Given the description of an element on the screen output the (x, y) to click on. 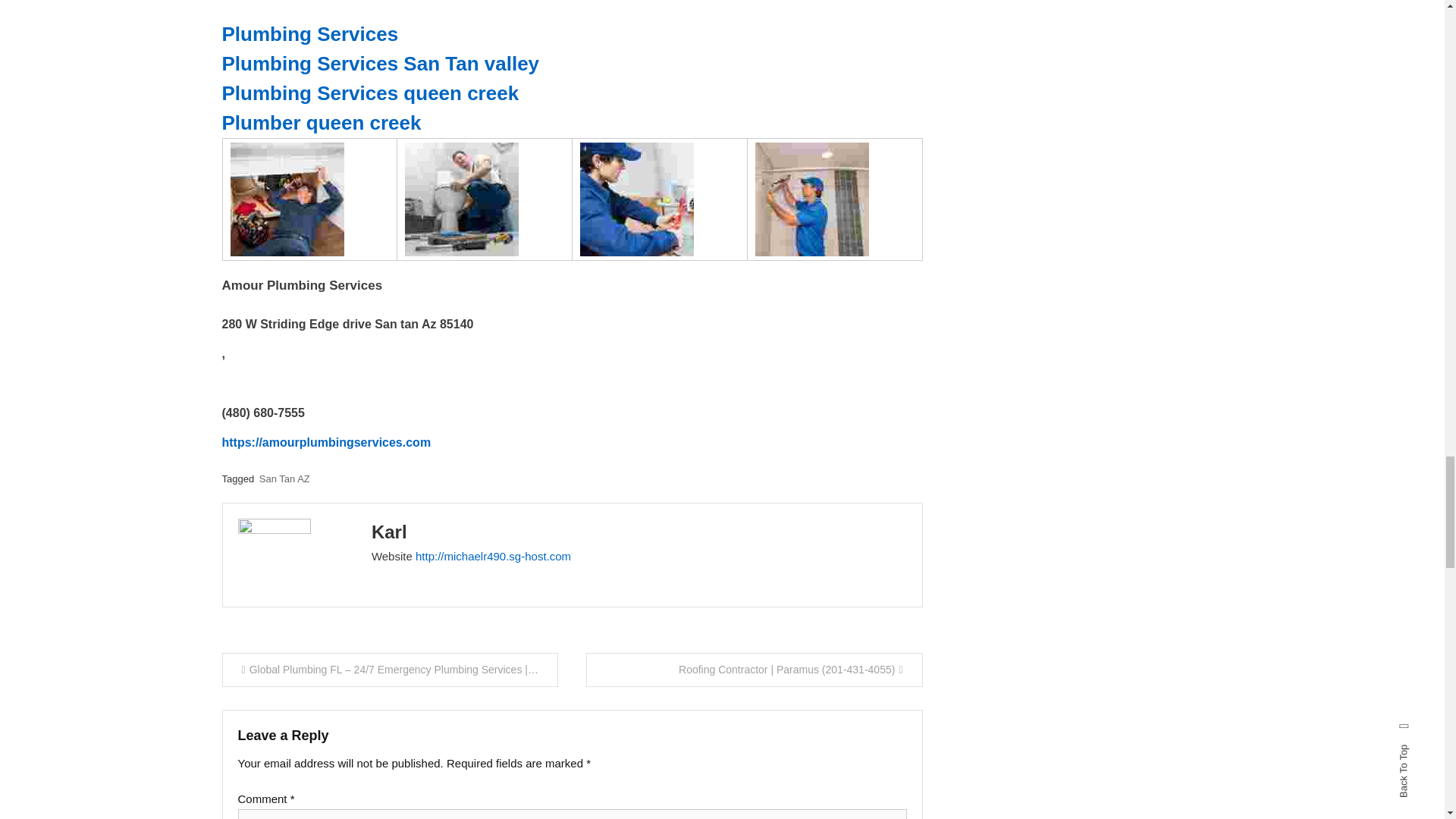
Posts by Karl (389, 531)
